Given the description of an element on the screen output the (x, y) to click on. 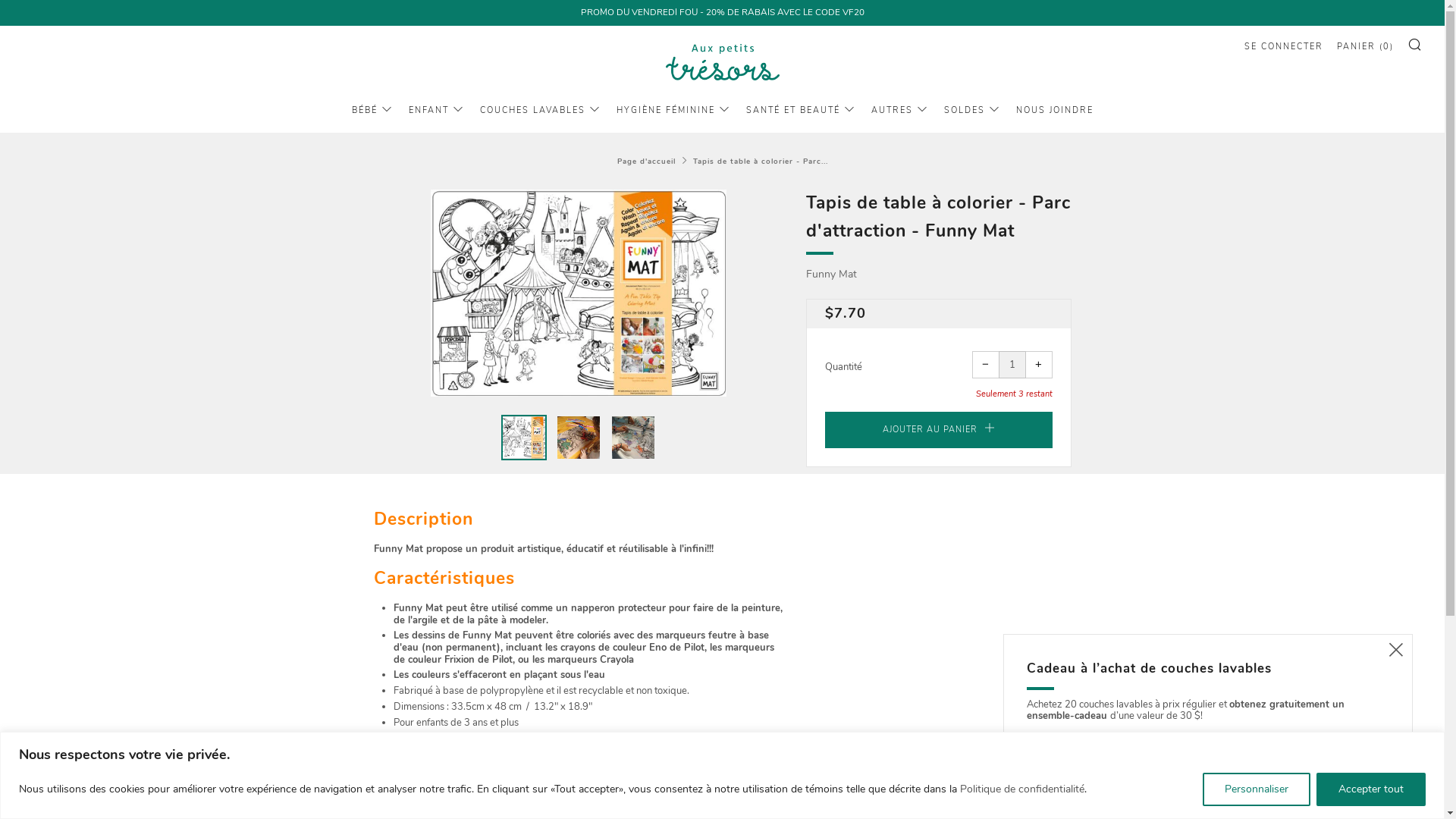
PANIER (0) Element type: text (1364, 46)
Fermer (esc) Element type: text (1396, 650)
ENFANT Element type: text (435, 110)
COUCHES LAVABLES Element type: text (539, 110)
NOUS JOINDRE Element type: text (1054, 110)
Funny Mat Element type: text (830, 273)
Accepter tout Element type: text (1370, 788)
Personnaliser Element type: text (1256, 788)
AJOUTER AU PANIER Element type: text (938, 429)
Page d'accueil Element type: text (646, 161)
RECHERCHE Element type: text (1414, 43)
MAGASINEZ Element type: text (1207, 754)
SOLDES Element type: text (971, 110)
SE CONNECTER Element type: text (1283, 46)
AUTRES Element type: text (898, 110)
